Given the description of an element on the screen output the (x, y) to click on. 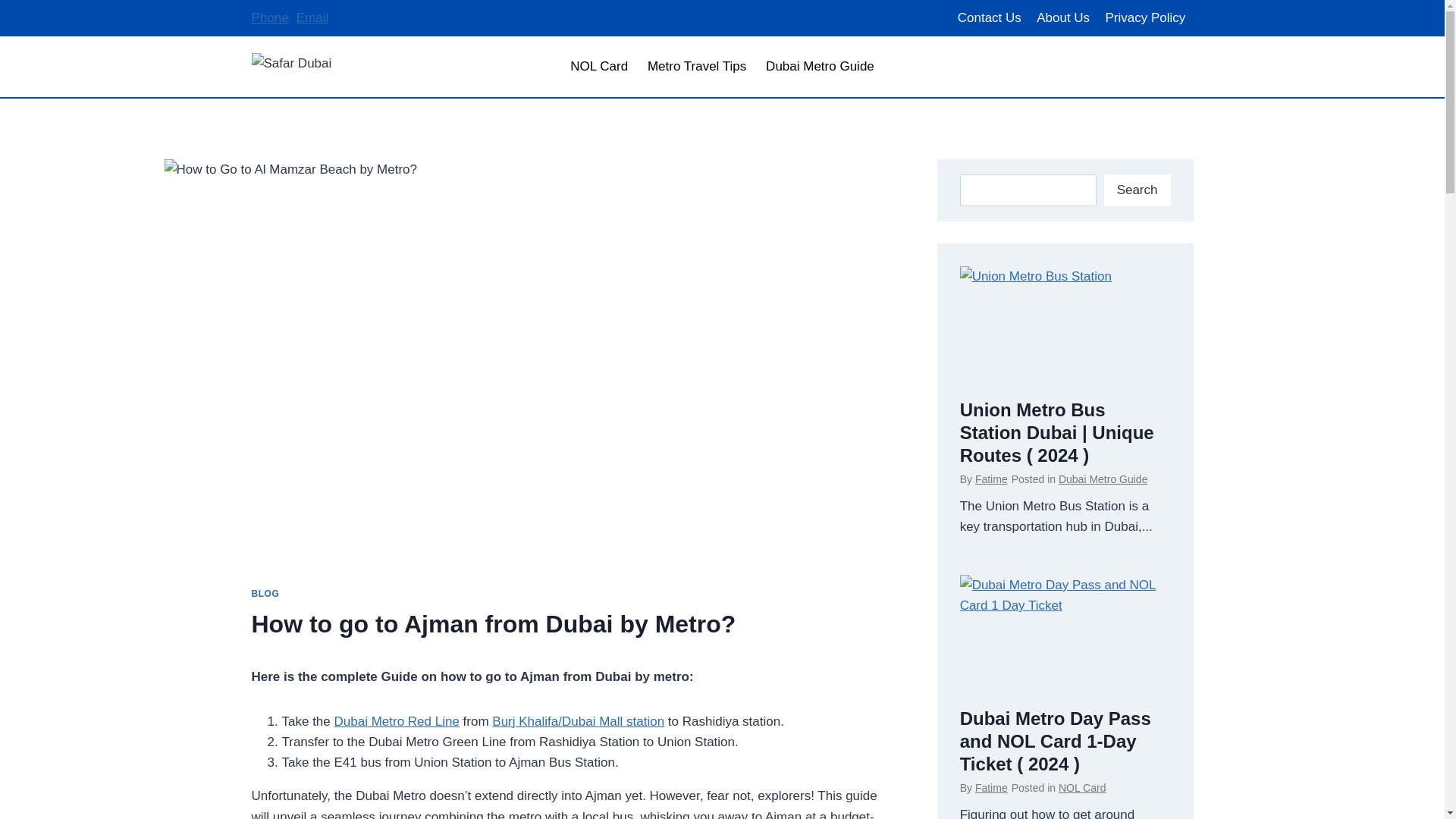
Metro Travel Tips (696, 66)
Dubai Metro Guide (1103, 479)
Fatime (991, 479)
Contact Us (989, 18)
About Us (1063, 18)
BLOG (265, 593)
NOL Card (598, 66)
Dubai Metro Red Line (395, 721)
Search (1136, 190)
Fatime (991, 787)
Dubai Metro Guide (819, 66)
Email (313, 17)
NOL Card (1082, 787)
Privacy Policy (1144, 18)
Phone (269, 17)
